Given the description of an element on the screen output the (x, y) to click on. 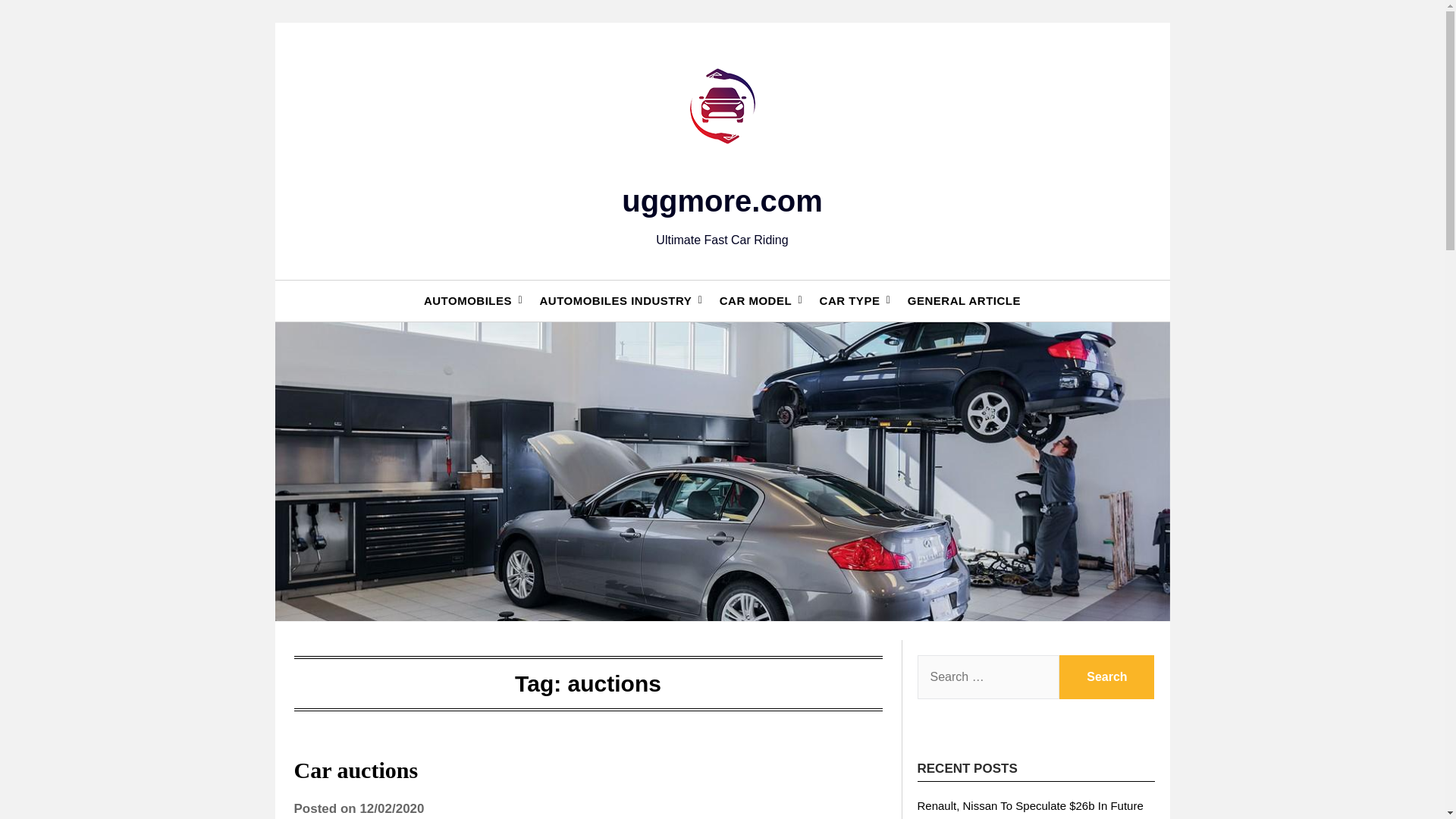
CAR TYPE (850, 300)
CAR MODEL (755, 300)
uggmore.com (721, 200)
Search (1106, 677)
Search (1106, 677)
GENERAL ARTICLE (963, 300)
AUTOMOBILES INDUSTRY (615, 300)
AUTOMOBILES (468, 300)
Car auctions (356, 769)
